Given the description of an element on the screen output the (x, y) to click on. 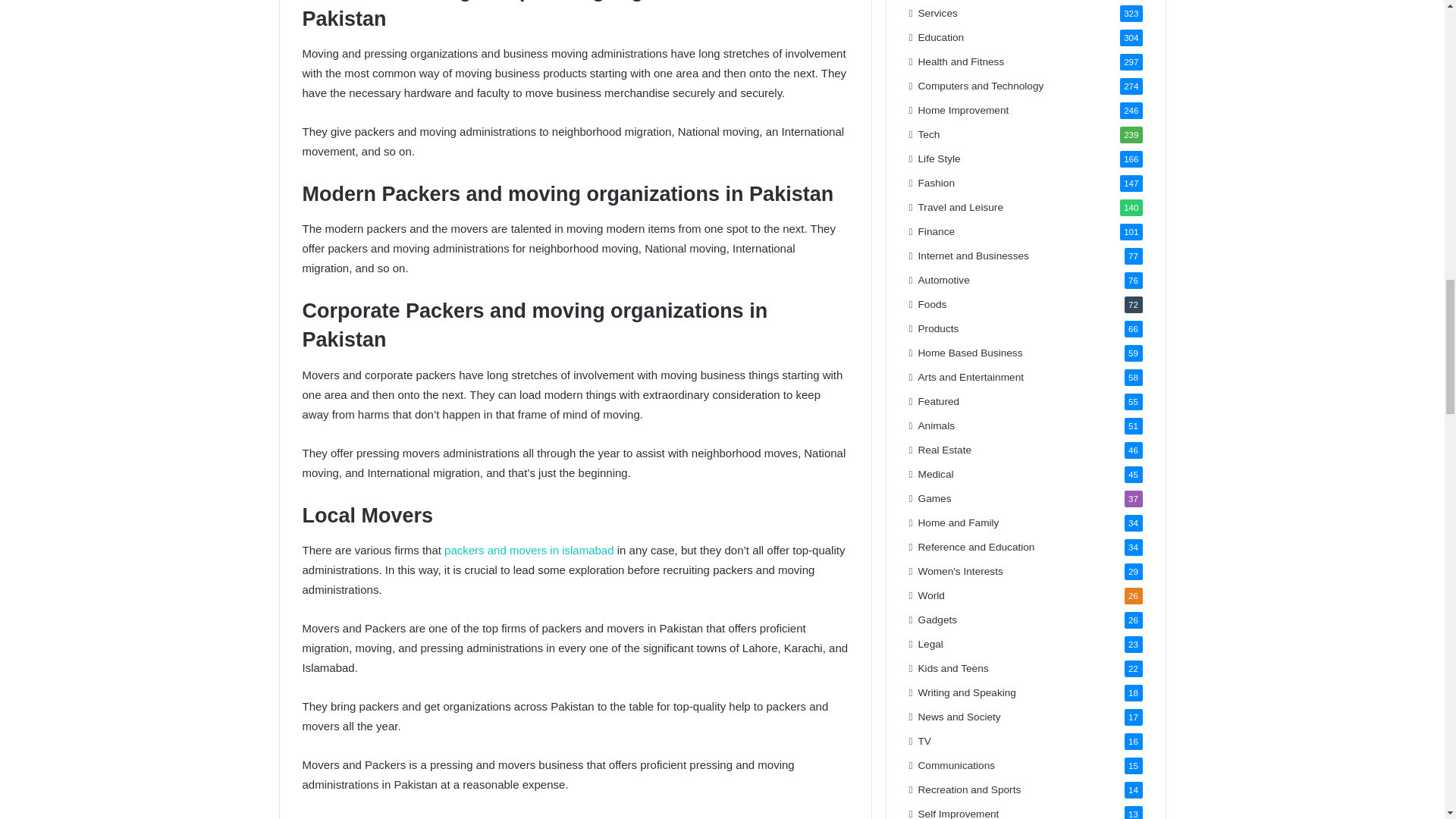
packers and movers in islamabad (528, 549)
